Given the description of an element on the screen output the (x, y) to click on. 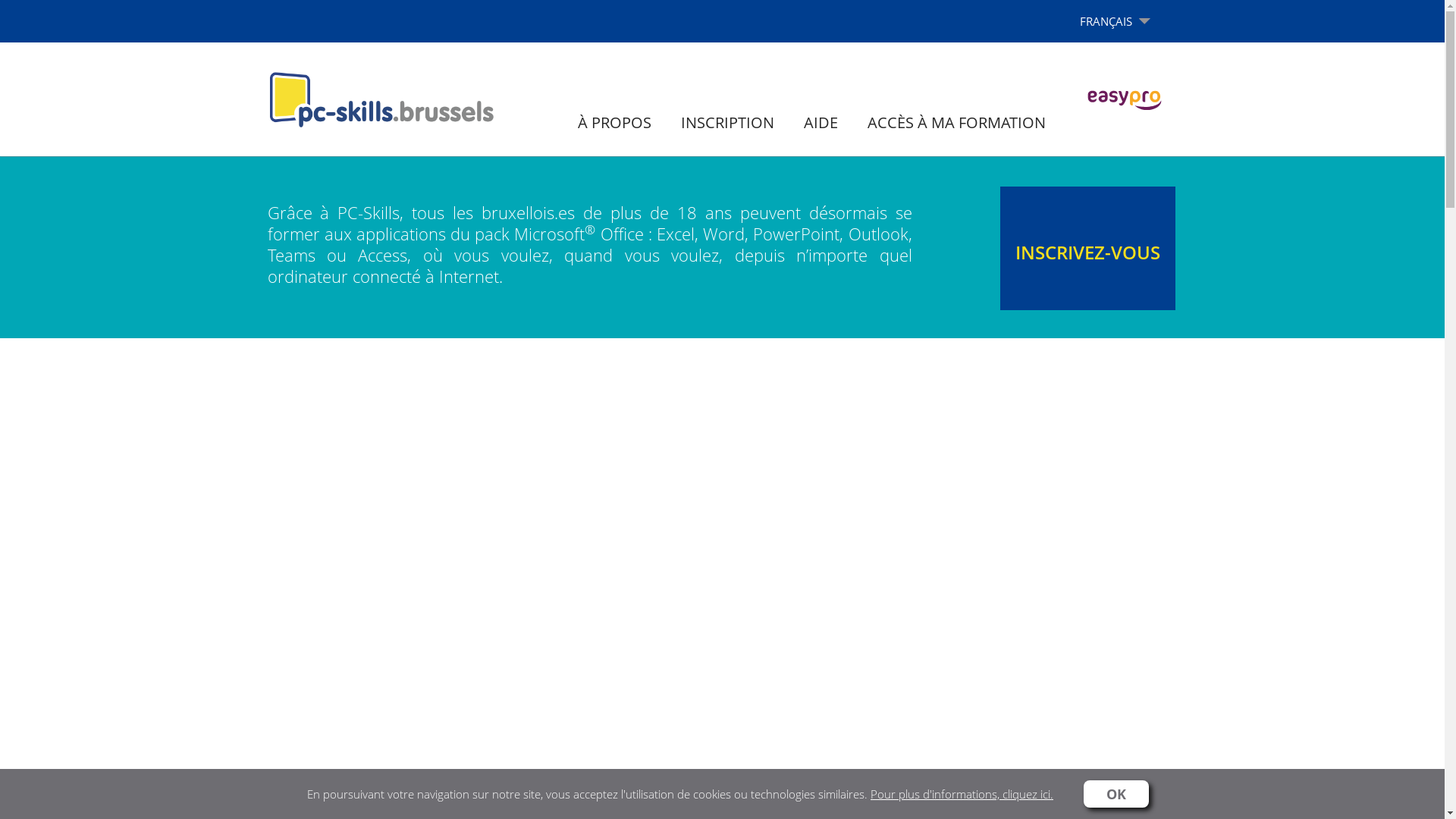
AIDE Element type: text (819, 122)
INSCRIPTION Element type: text (726, 122)
INSCRIVEZ-VOUS Element type: text (1087, 248)
Pour plus d'informations, cliquez ici. Element type: text (961, 792)
OK Element type: text (1115, 793)
